Given the description of an element on the screen output the (x, y) to click on. 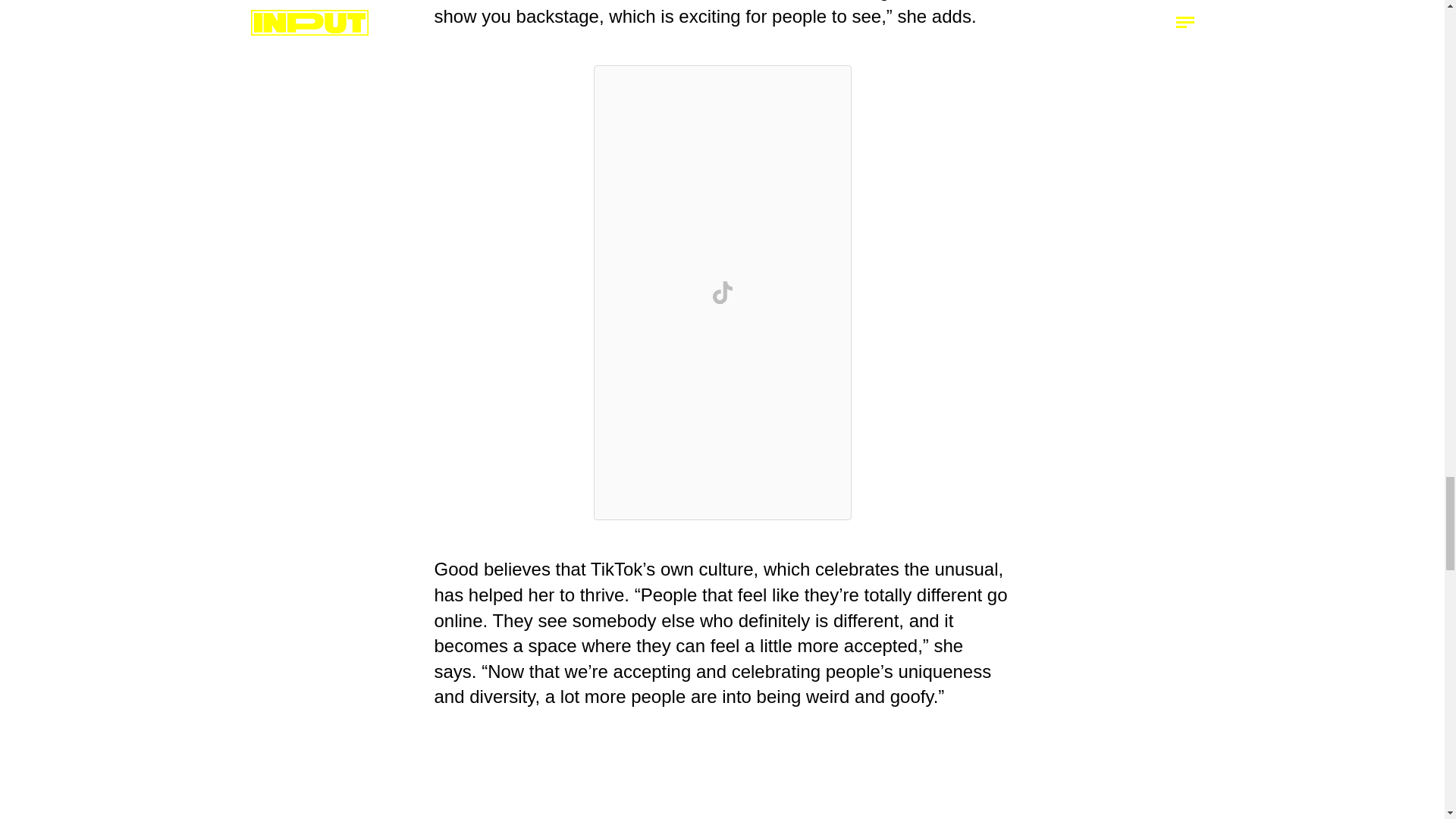
View on TikTok (721, 292)
